Given the description of an element on the screen output the (x, y) to click on. 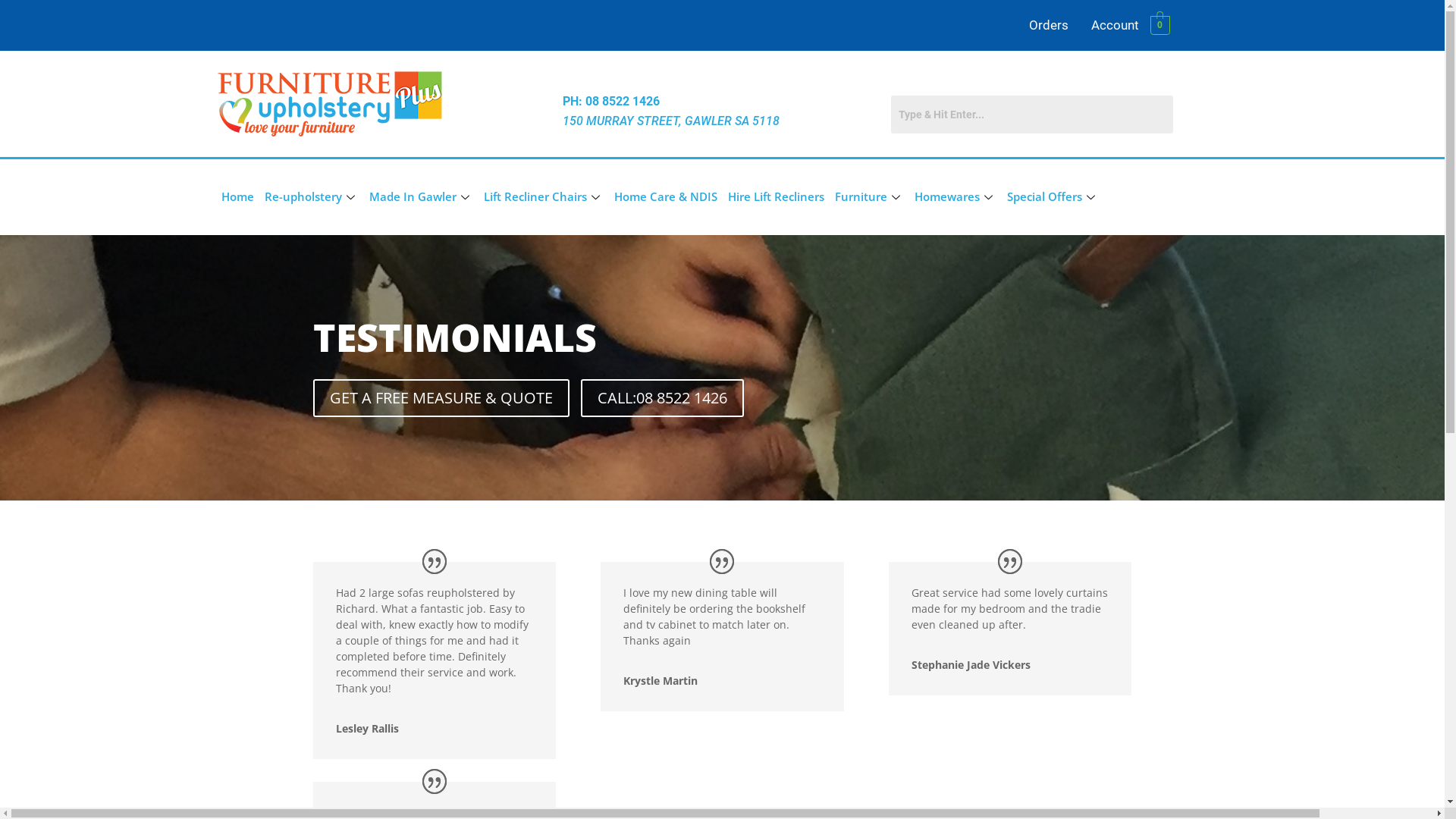
Special Offers Element type: text (1052, 196)
Home Element type: text (236, 196)
Re-upholstery Element type: text (311, 196)
Hire Lift Recliners Element type: text (774, 196)
Homewares Element type: text (954, 196)
Home Care & NDIS Element type: text (664, 196)
Furniture Element type: text (869, 196)
CALL:08 8522 1426 Element type: text (661, 398)
Made In Gawler Element type: text (421, 196)
Search Element type: hover (1032, 114)
Account Element type: text (1114, 25)
GET A FREE MEASURE & QUOTE Element type: text (440, 398)
0 Element type: text (1159, 24)
Lift Recliner Chairs Element type: text (542, 196)
Orders Element type: text (1048, 25)
